Given the description of an element on the screen output the (x, y) to click on. 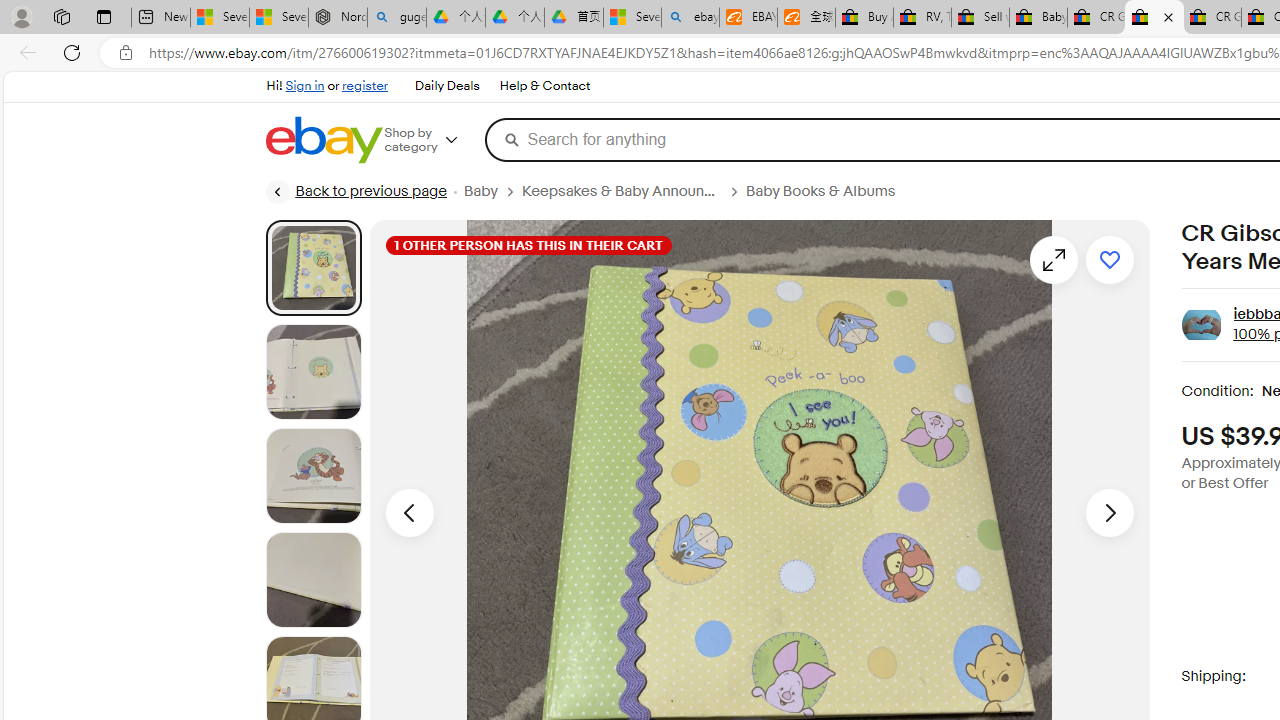
Daily Deals (447, 86)
eBay Home (323, 139)
Keepsakes & Baby Announcements (620, 191)
